Given the description of an element on the screen output the (x, y) to click on. 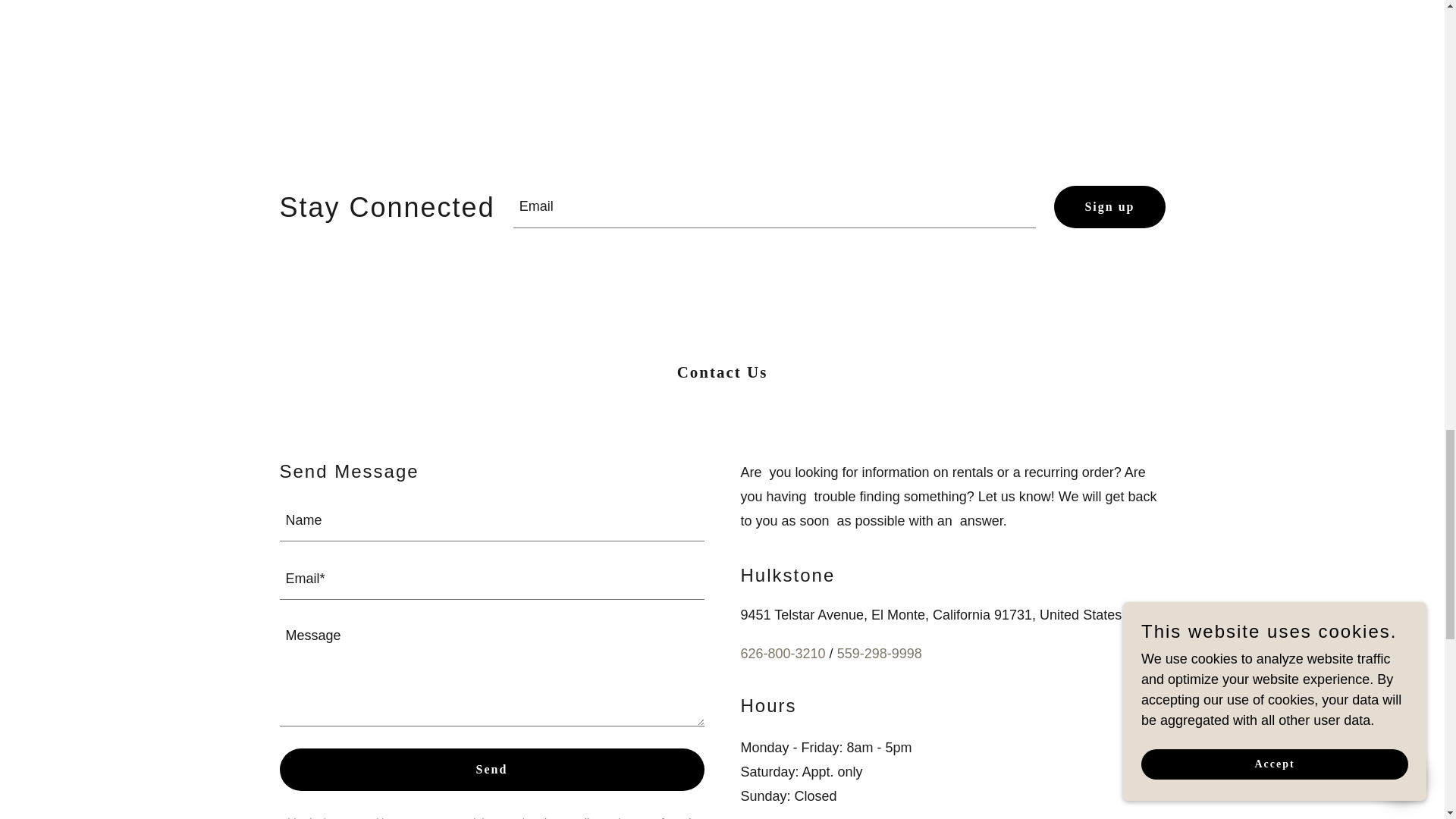
559-298-9998 (879, 653)
Terms of Service (662, 817)
Sign up (1109, 206)
Send (491, 769)
Privacy Policy (566, 817)
626-800-3210 (782, 653)
